Given the description of an element on the screen output the (x, y) to click on. 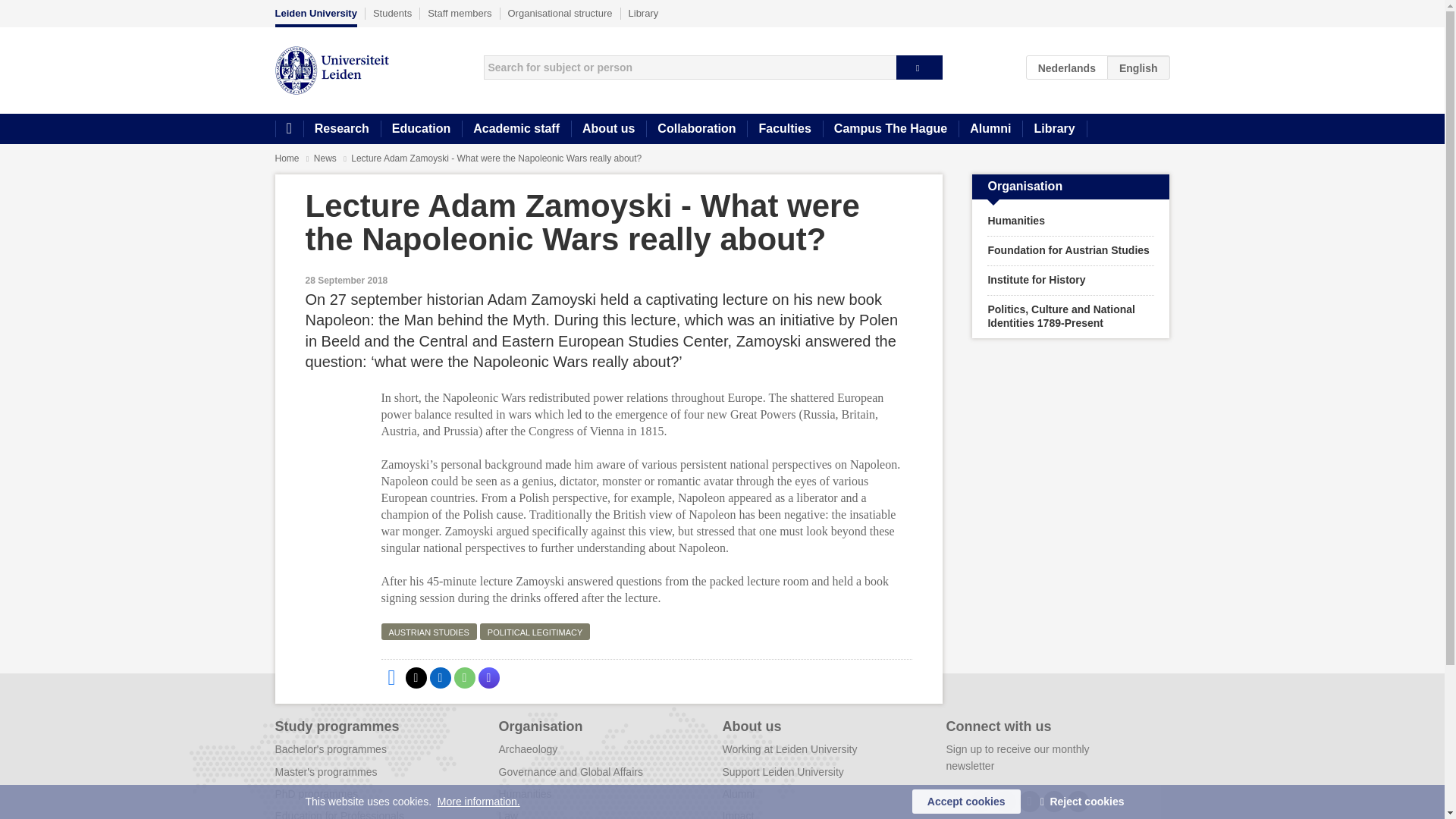
Faculties (784, 128)
Share on X (415, 677)
Research (341, 128)
About us (608, 128)
AUSTRIAN STUDIES (428, 631)
Home (286, 158)
Share on LinkedIn (439, 677)
Collaboration (696, 128)
Library (643, 13)
Education (420, 128)
Students (392, 13)
Academic staff (515, 128)
Organisational structure (560, 13)
Share by WhatsApp (463, 677)
POLITICAL LEGITIMACY (535, 631)
